Given the description of an element on the screen output the (x, y) to click on. 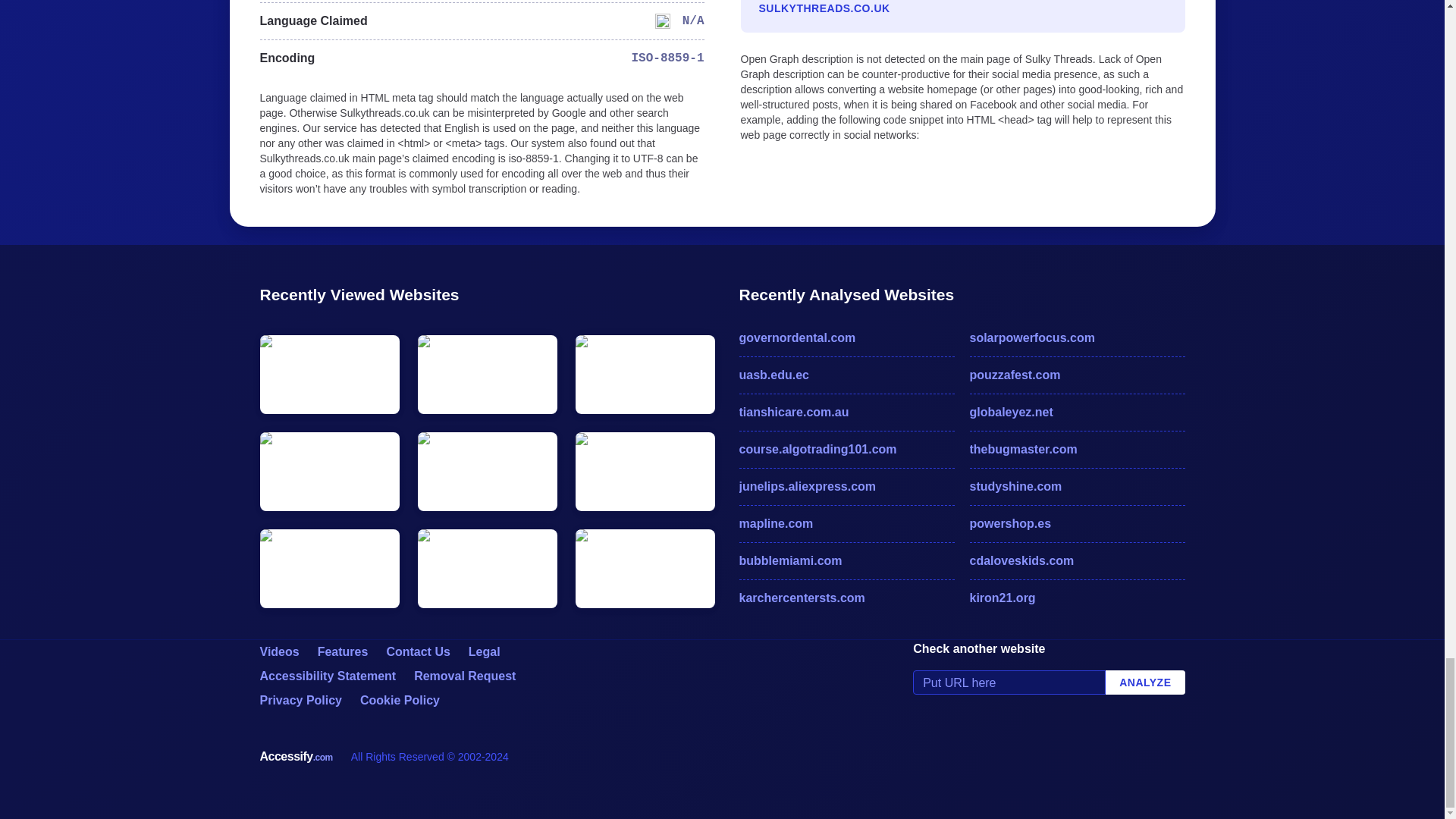
Videos (278, 651)
junelips.aliexpress.com (845, 486)
bubblemiami.com (845, 561)
cdaloveskids.com (1077, 561)
solarpowerfocus.com (1077, 338)
mapline.com (845, 524)
Screencasts: video tutorials and guides (278, 651)
uasb.edu.ec (845, 375)
course.algotrading101.com (845, 449)
